Given the description of an element on the screen output the (x, y) to click on. 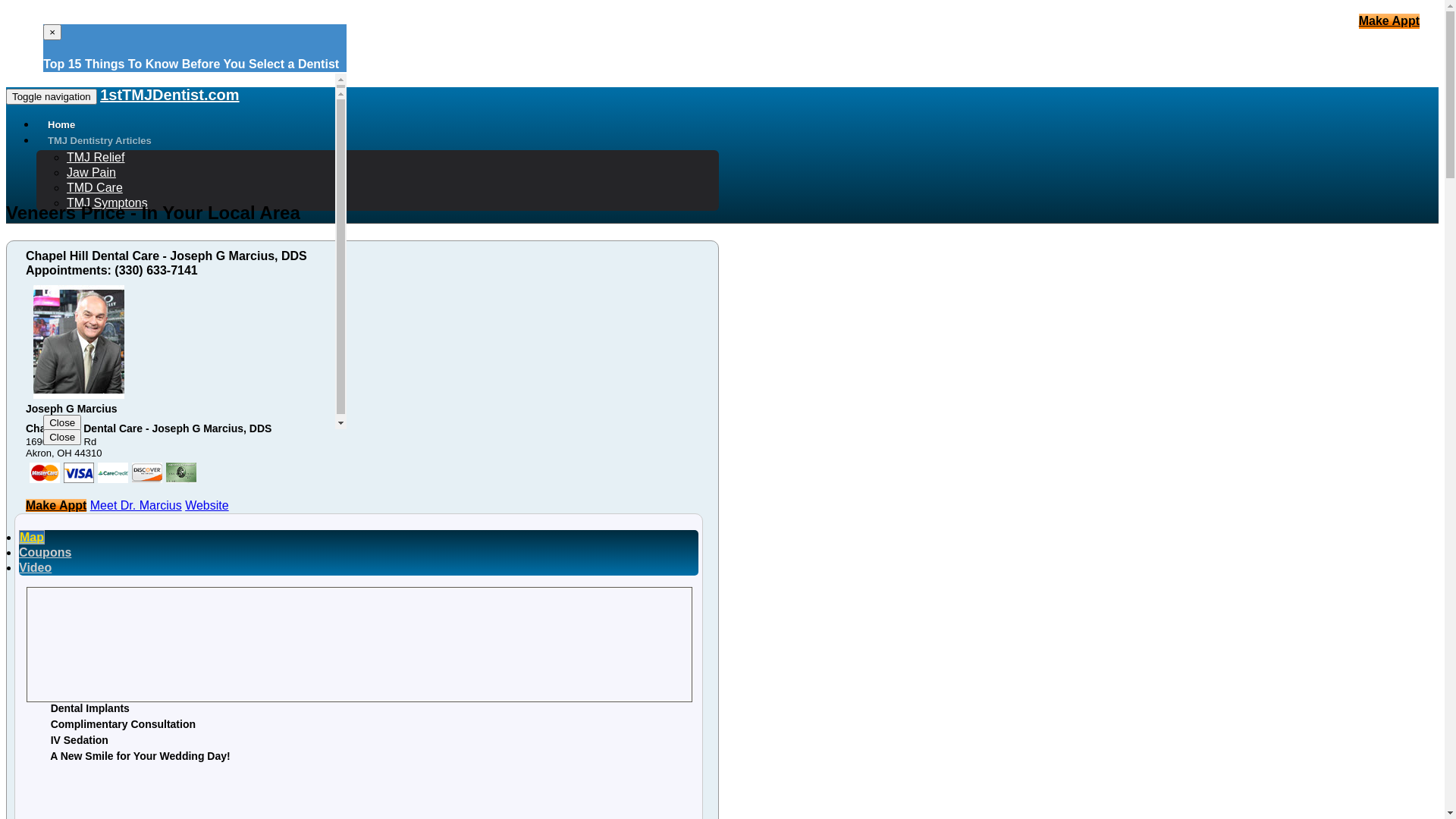
my title Element type: hover (146, 472)
Make Appt Element type: text (1388, 20)
TMD Care Element type: text (94, 187)
my title Element type: hover (44, 472)
Close Element type: text (62, 422)
Make Appt Element type: text (55, 504)
Video Element type: text (34, 567)
Home Element type: text (61, 124)
Meet Dr. Marcius Element type: text (136, 504)
TMJ Symptons Element type: text (106, 202)
TMJ Relief Element type: text (95, 156)
Website Element type: text (207, 504)
Jaw Pain Element type: text (91, 172)
Close Element type: text (62, 437)
my title Element type: hover (78, 472)
my title Element type: hover (181, 472)
TMJ Dentistry Articles Element type: text (99, 140)
Coupons Element type: text (44, 552)
1stTMJDentist.com Element type: text (169, 94)
Toggle navigation Element type: text (51, 96)
my title Element type: hover (112, 472)
Map Element type: text (31, 537)
